Given the description of an element on the screen output the (x, y) to click on. 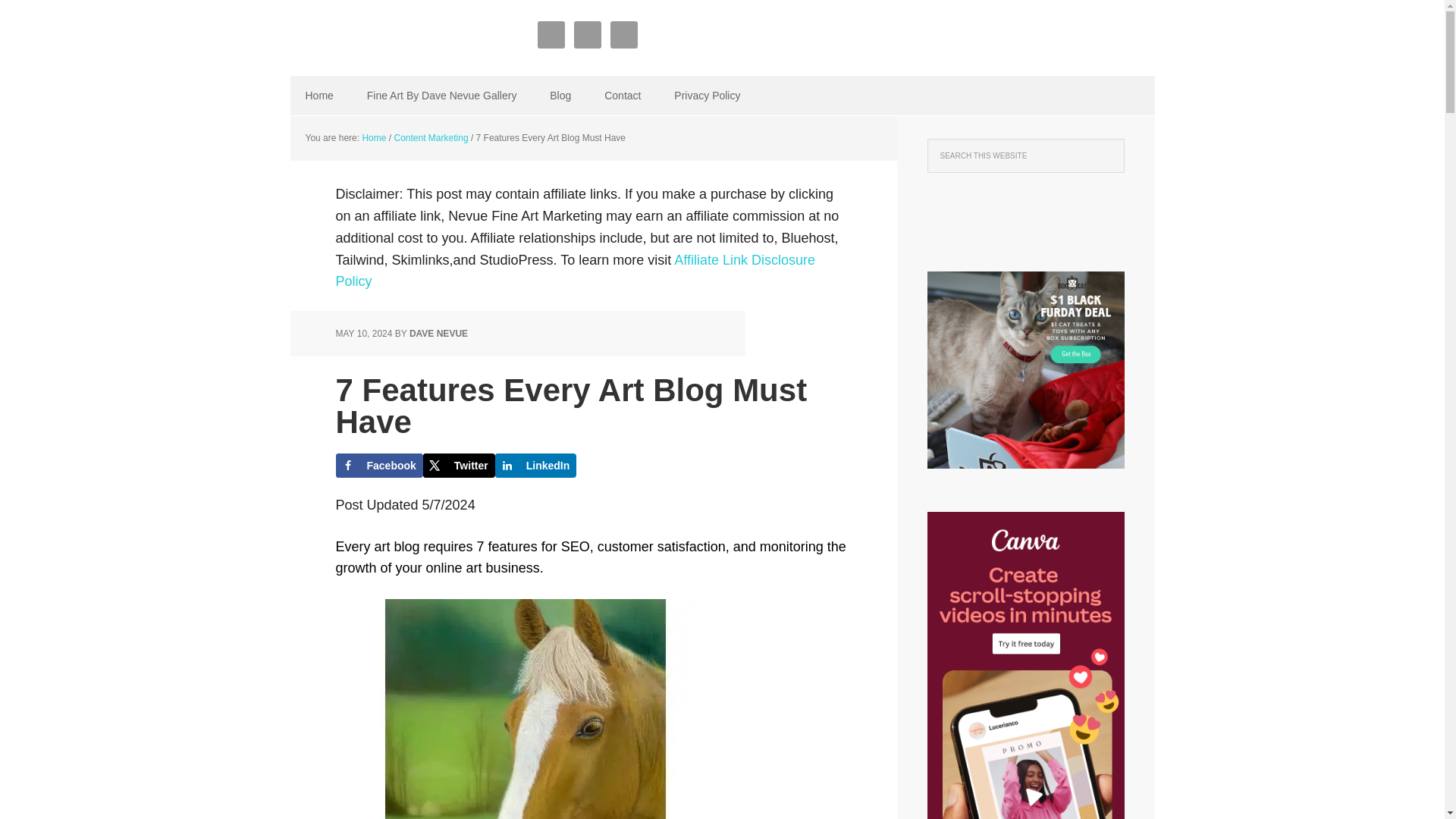
Content Marketing (431, 137)
Home (318, 96)
Contact (622, 96)
Facebook (378, 465)
Share on X (459, 465)
DAVE NEVUE (438, 333)
Share on LinkedIn (535, 465)
Privacy Policy (707, 96)
Affiliate Link Disclosure Policy (574, 270)
